Given the description of an element on the screen output the (x, y) to click on. 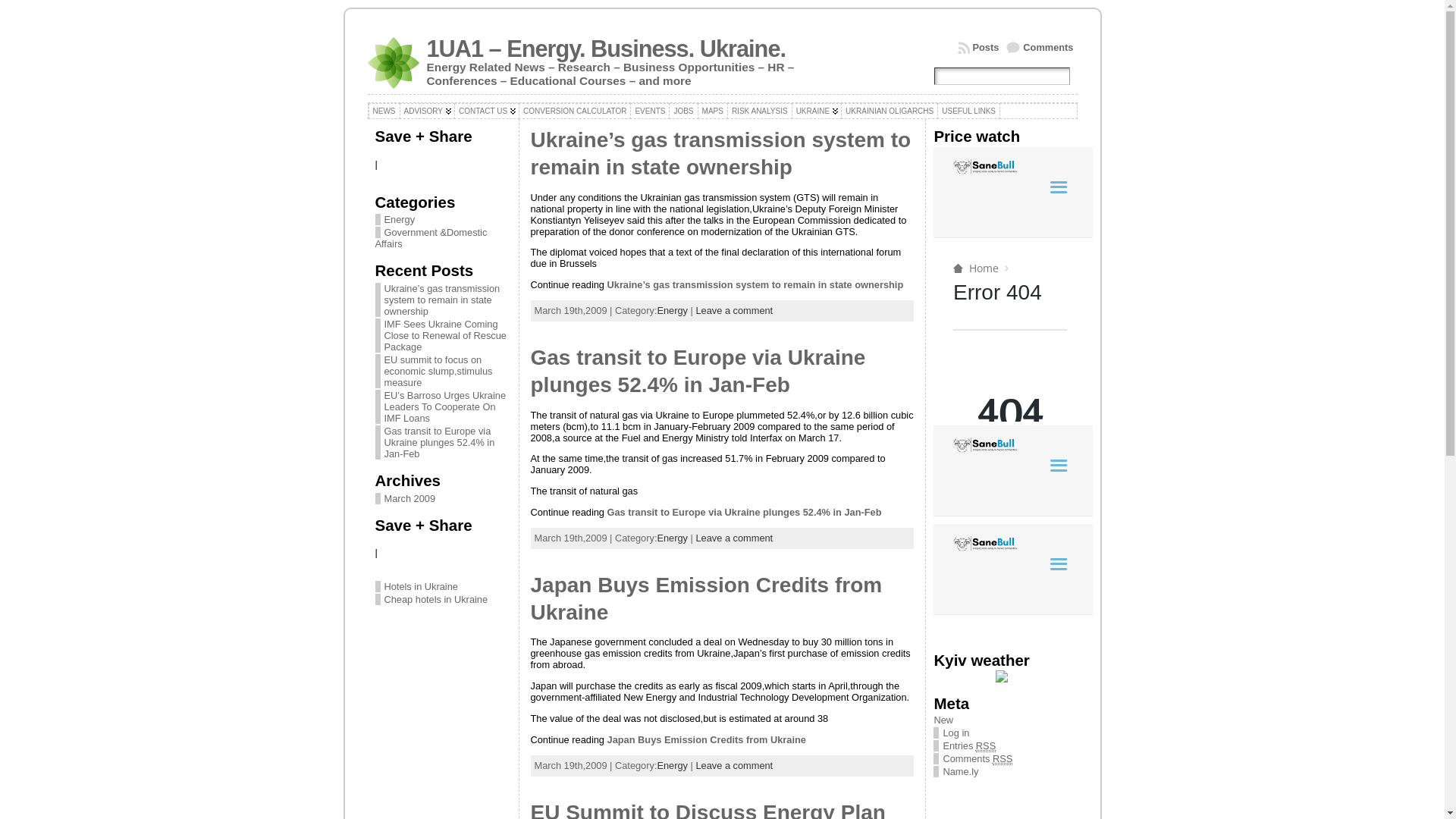
Log in Element type: text (955, 732)
MAPS Element type: text (712, 111)
Energy Element type: text (671, 310)
UKRAINE Element type: text (816, 111)
Gas transit to Europe via Ukraine plunges 52.4% in Jan-Feb Element type: text (744, 511)
USEFUL LINKS Element type: text (968, 111)
Cheap hotels in Ukraine Element type: text (435, 599)
IMF Sees Ukraine Coming Close to Renewal of Rescue Package Element type: text (444, 335)
Name.ly Element type: text (960, 771)
ADVISORY Element type: text (426, 111)
Comments Element type: text (1039, 47)
March 2009 Element type: text (409, 498)
NEWS Element type: text (384, 111)
CONVERSION CALCULATOR Element type: text (574, 111)
Energy Element type: text (671, 537)
Hotels in Ukraine Element type: text (420, 586)
Energy Element type: text (394, 219)
Energy Element type: text (671, 765)
Posts Element type: text (977, 47)
Gas transit to Europe via Ukraine plunges 52.4% in Jan-Feb Element type: text (438, 442)
Gas transit to Europe via Ukraine plunges 52.4% in Jan-Feb Element type: text (698, 370)
Comments RSS Element type: text (977, 759)
Leave a comment Element type: text (733, 537)
Leave a comment Element type: text (733, 765)
EVENTS Element type: text (649, 111)
Entries RSS Element type: text (968, 746)
JOBS Element type: text (682, 111)
Japan Buys Emission Credits from Ukraine Element type: text (706, 739)
New Element type: text (943, 719)
Government &Domestic Affairs Element type: text (430, 237)
UKRAINIAN OLIGARCHS Element type: text (889, 111)
Japan Buys Emission Credits from Ukraine Element type: text (706, 598)
RISK ANALYSIS Element type: text (759, 111)
Leave a comment Element type: text (733, 310)
CONTACT US Element type: text (486, 111)
EU summit to focus on economic slump,stimulus measure Element type: text (437, 371)
